Given the description of an element on the screen output the (x, y) to click on. 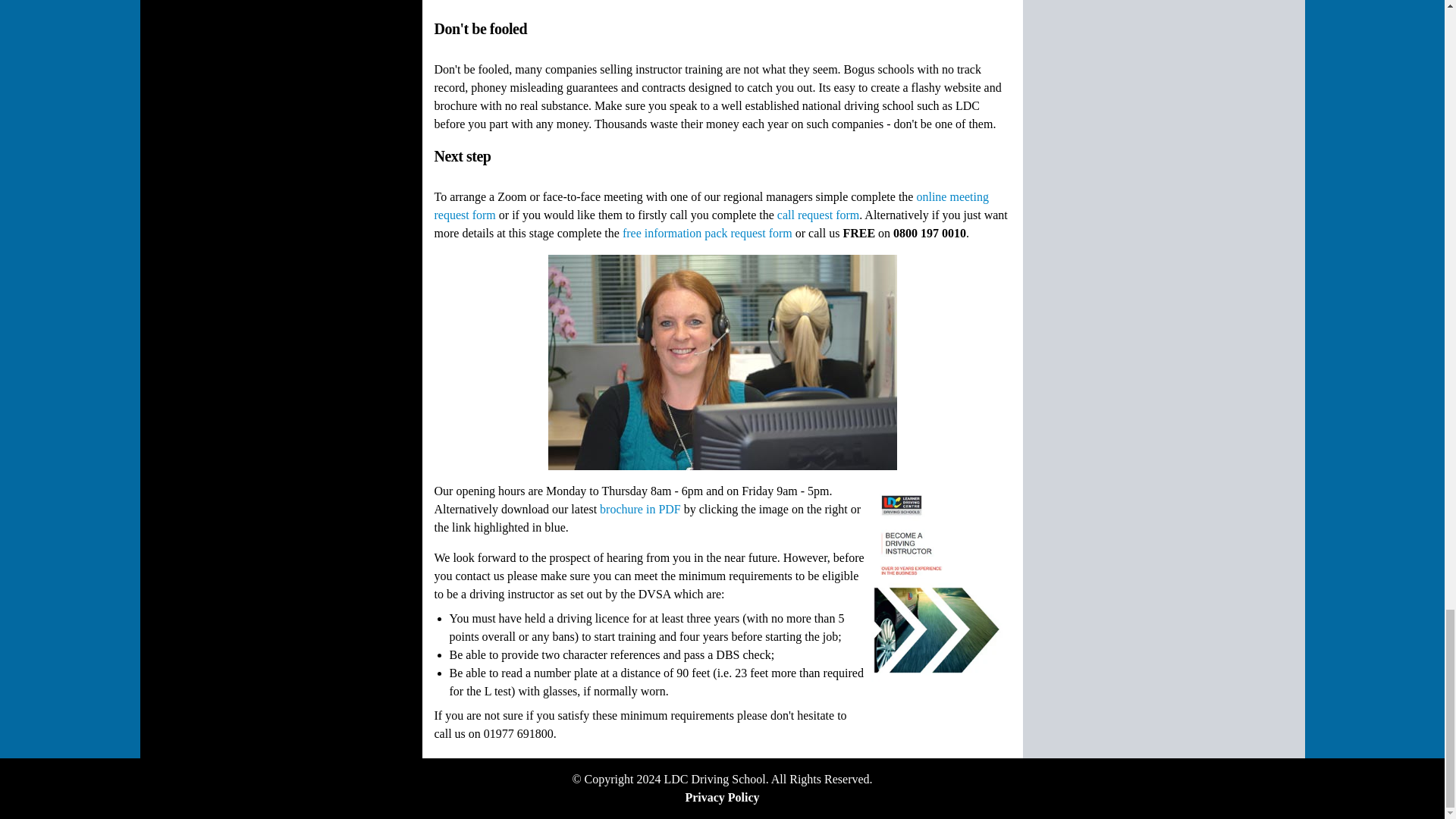
online meeting request form (710, 205)
Learner Driving Centres (714, 779)
Privacy Policy (721, 797)
call request form (818, 214)
LDC Driving Instructor Training Brochure (640, 508)
free information pack request form (707, 232)
